Given the description of an element on the screen output the (x, y) to click on. 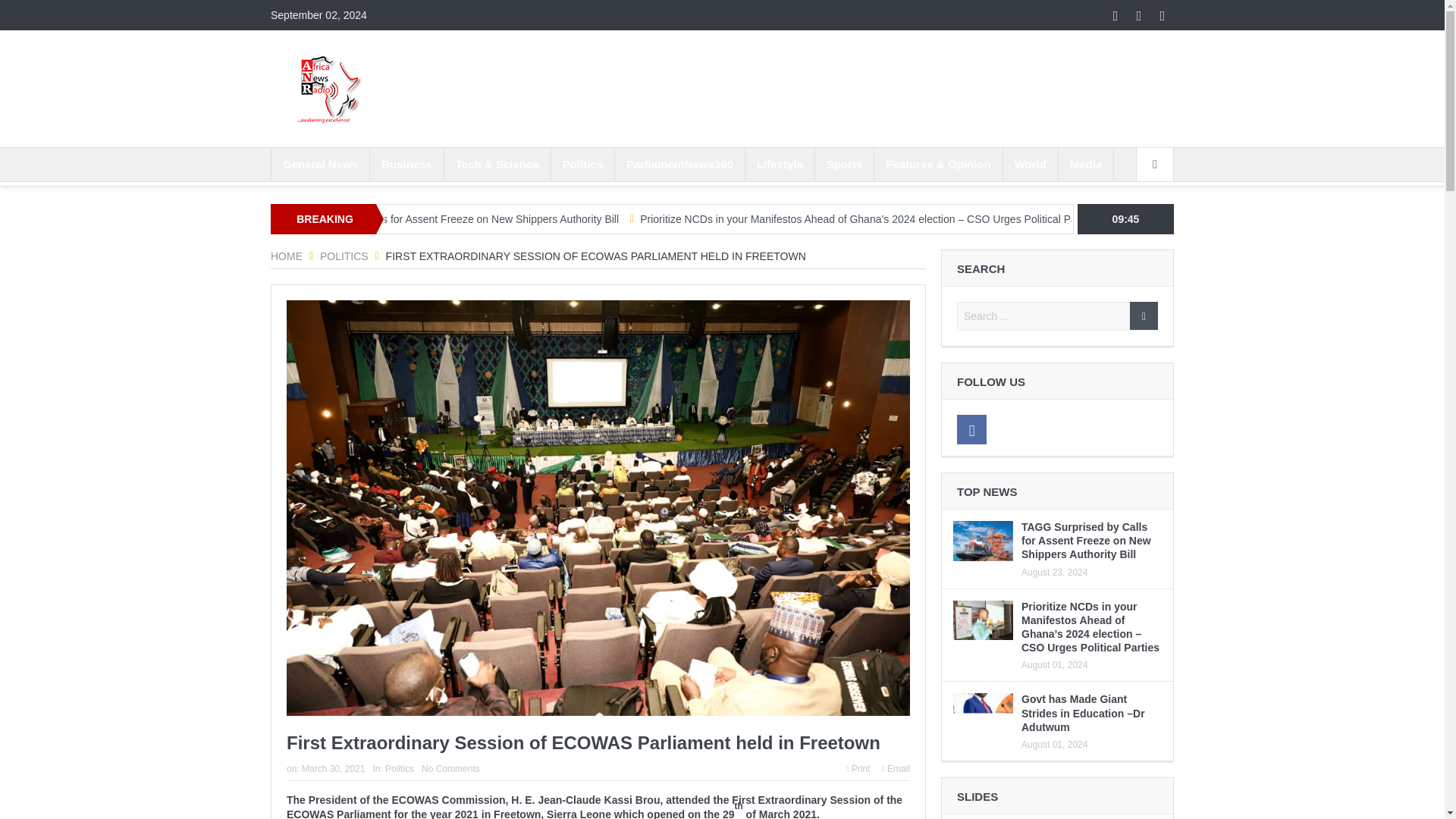
Politics (344, 256)
Politics (399, 768)
General News (319, 164)
Sports (845, 164)
Lifestyle (779, 164)
Print (857, 768)
Politics (582, 164)
Business (406, 164)
ParliamentNews360 (679, 164)
